Given the description of an element on the screen output the (x, y) to click on. 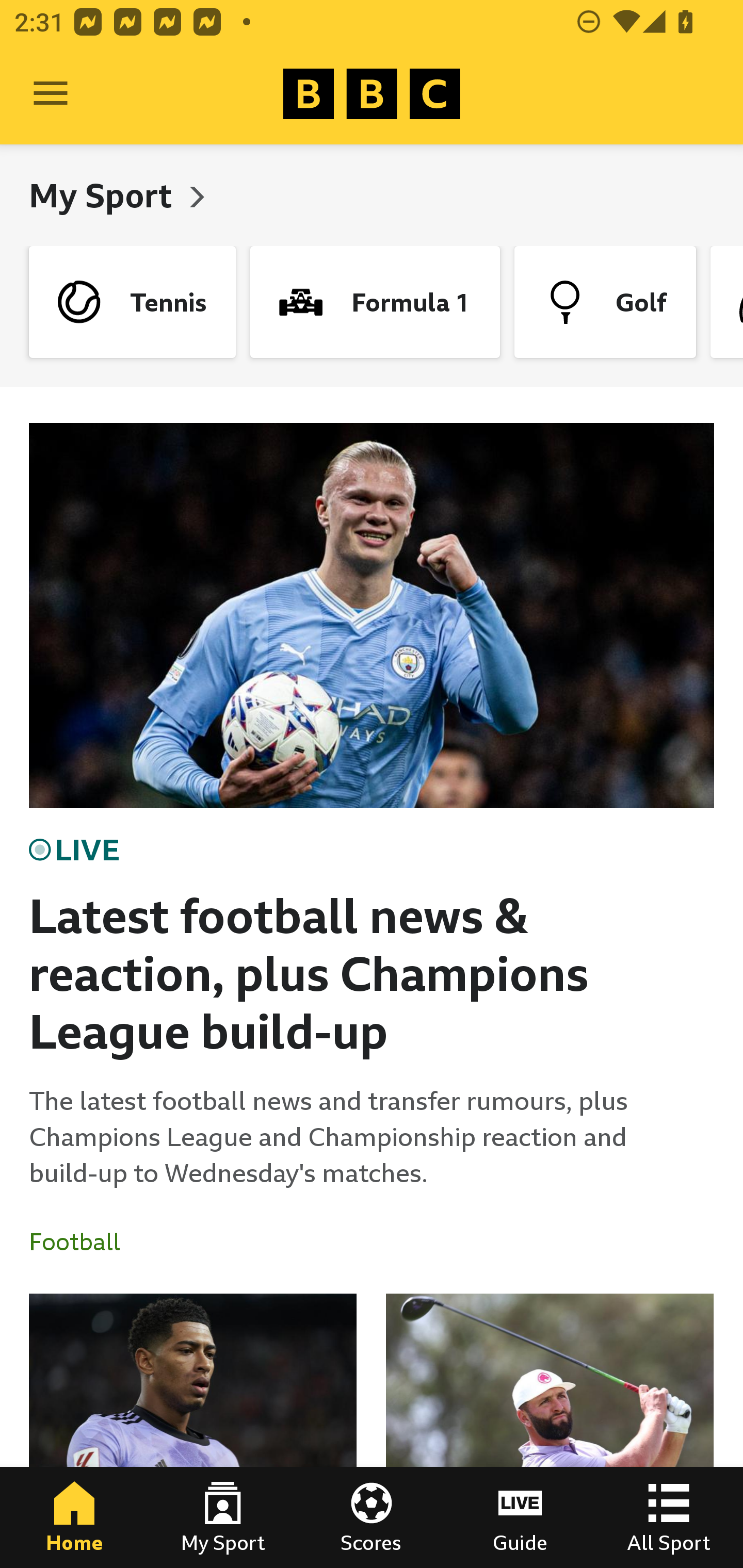
Open Menu (50, 93)
My Sport (104, 195)
Football In the section Football (81, 1241)
Real midfielder Bellingham banned for two games (192, 1430)
My Sport (222, 1517)
Scores (371, 1517)
Guide (519, 1517)
All Sport (668, 1517)
